Given the description of an element on the screen output the (x, y) to click on. 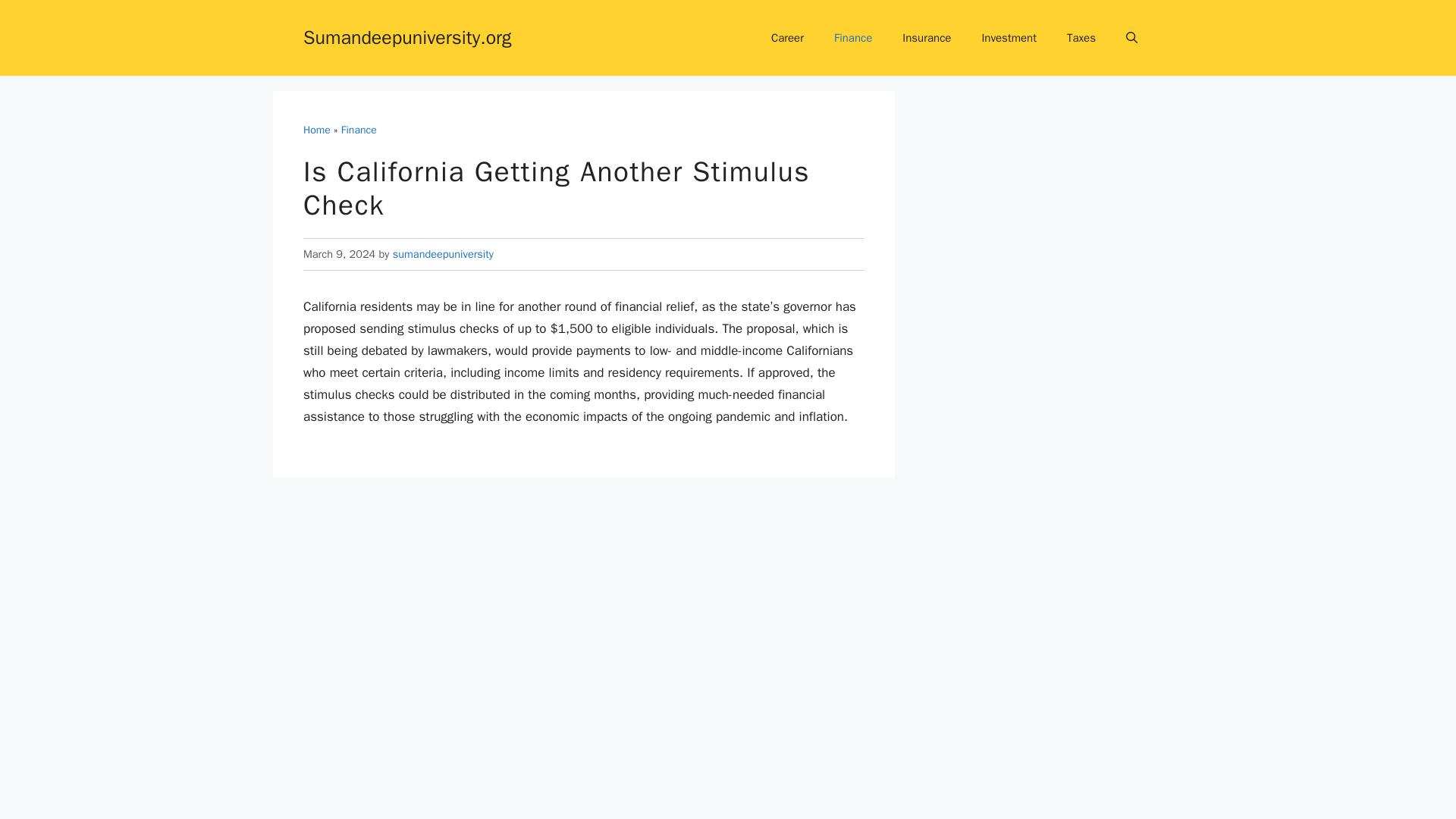
Finance (358, 129)
Taxes (1080, 37)
sumandeepuniversity (443, 254)
Finance (852, 37)
Sumandeepuniversity.org (407, 37)
Insurance (926, 37)
Investment (1008, 37)
Home (316, 129)
Career (786, 37)
View all posts by sumandeepuniversity (443, 254)
